Given the description of an element on the screen output the (x, y) to click on. 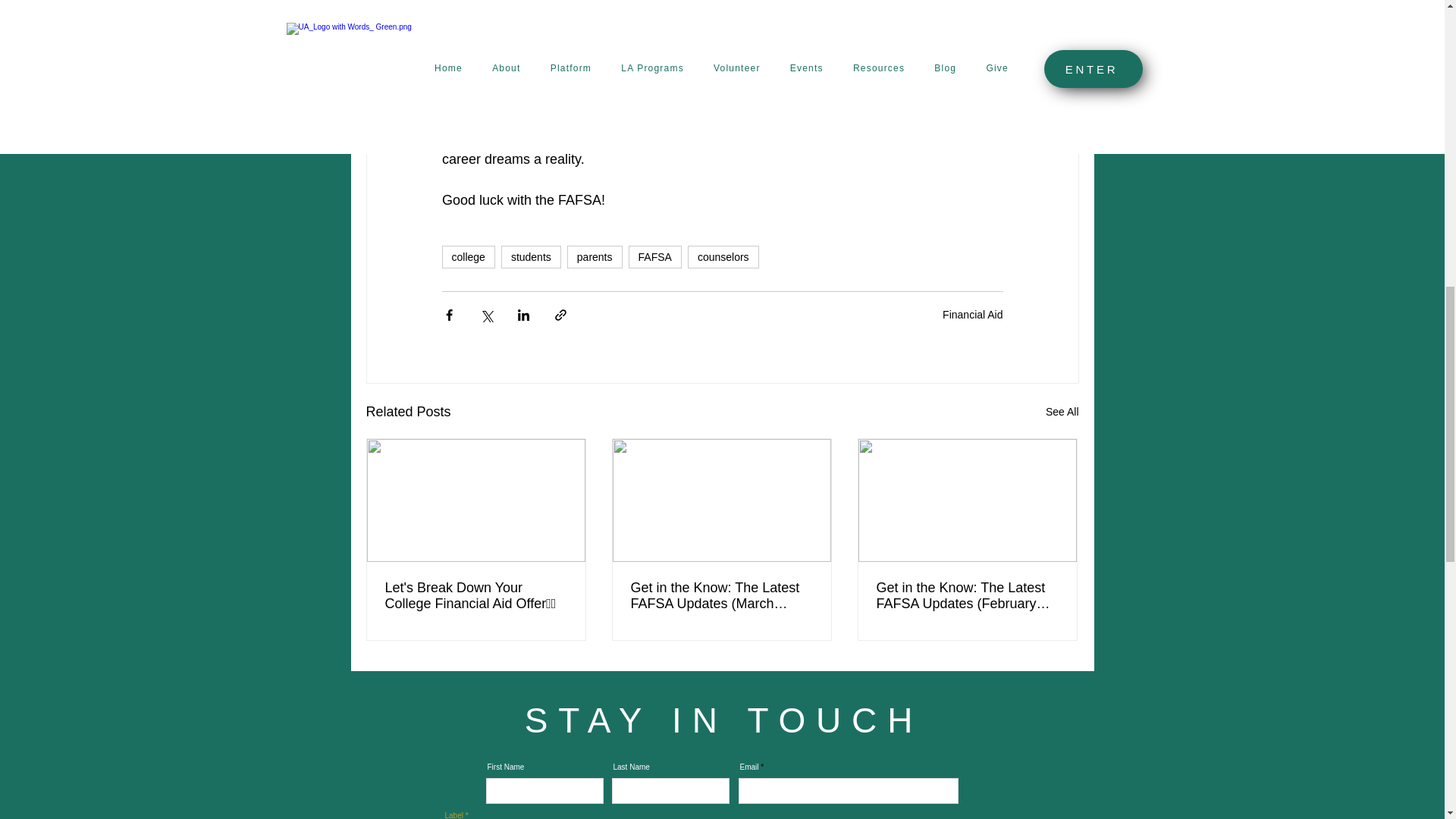
Financial Aid (972, 313)
See All (1061, 412)
counselors (722, 256)
FAFSA (654, 256)
parents (595, 256)
free events (824, 56)
Major and Career Fair (655, 97)
students (530, 256)
college (468, 256)
